Given the description of an element on the screen output the (x, y) to click on. 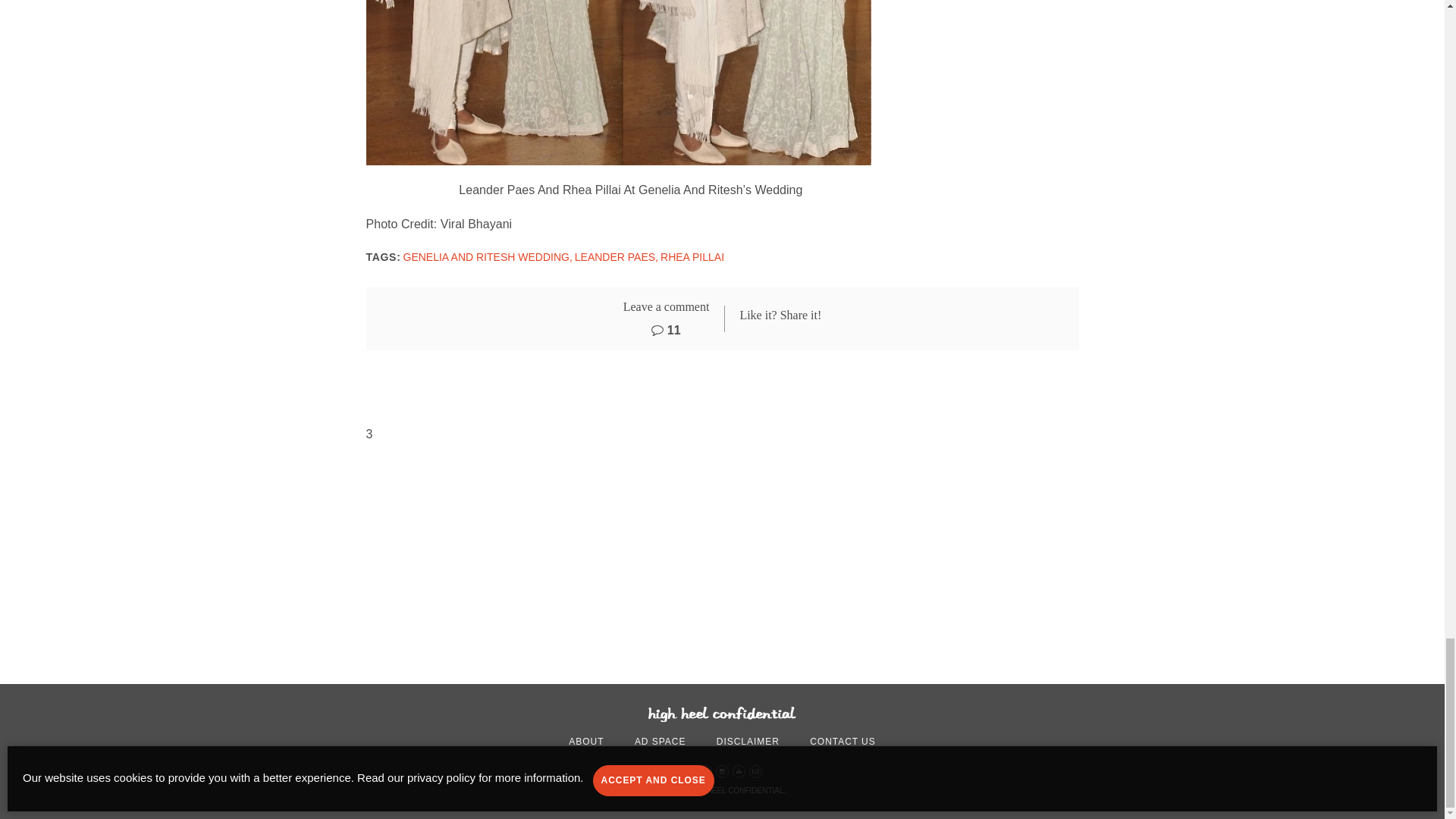
genelia-and-ritesh-wedding-rhea-pillai-leander-paes (617, 82)
GENELIA AND RITESH WEDDING, (487, 256)
